Given the description of an element on the screen output the (x, y) to click on. 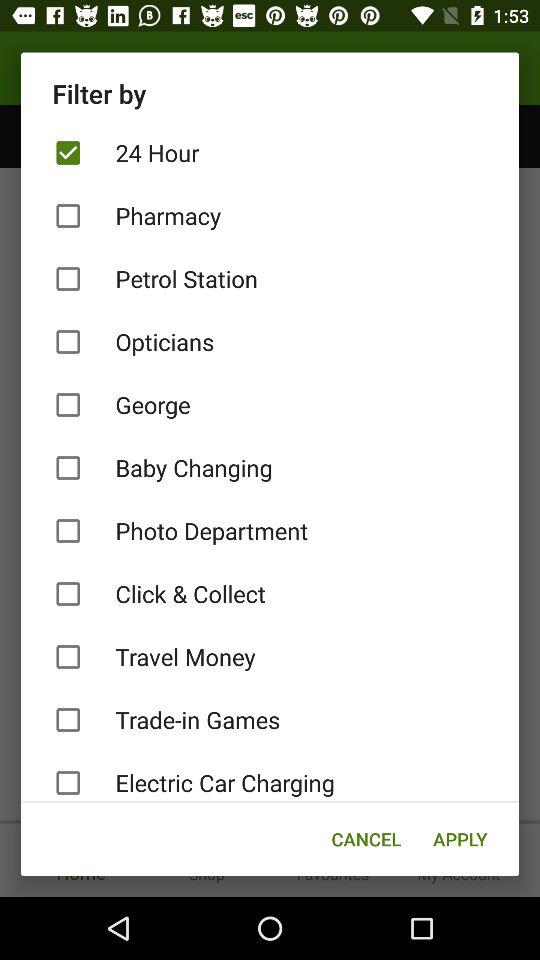
press the icon below trade-in games icon (270, 776)
